Given the description of an element on the screen output the (x, y) to click on. 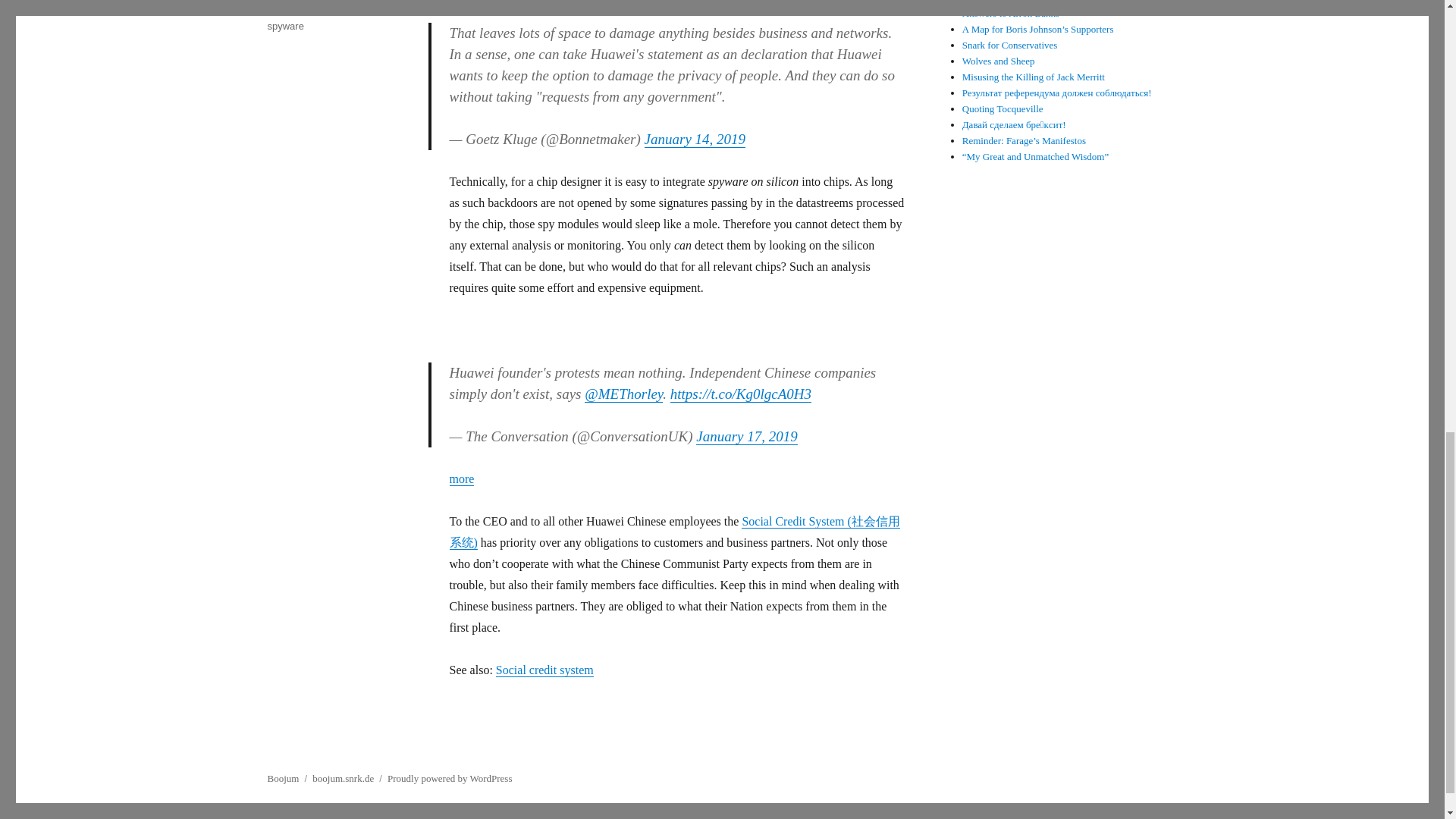
spying (356, 9)
more (461, 478)
January 14, 2019 (695, 139)
spyware (284, 25)
Social credit system (545, 669)
January 17, 2019 (746, 436)
privacy (320, 9)
Huawei (282, 9)
